Given the description of an element on the screen output the (x, y) to click on. 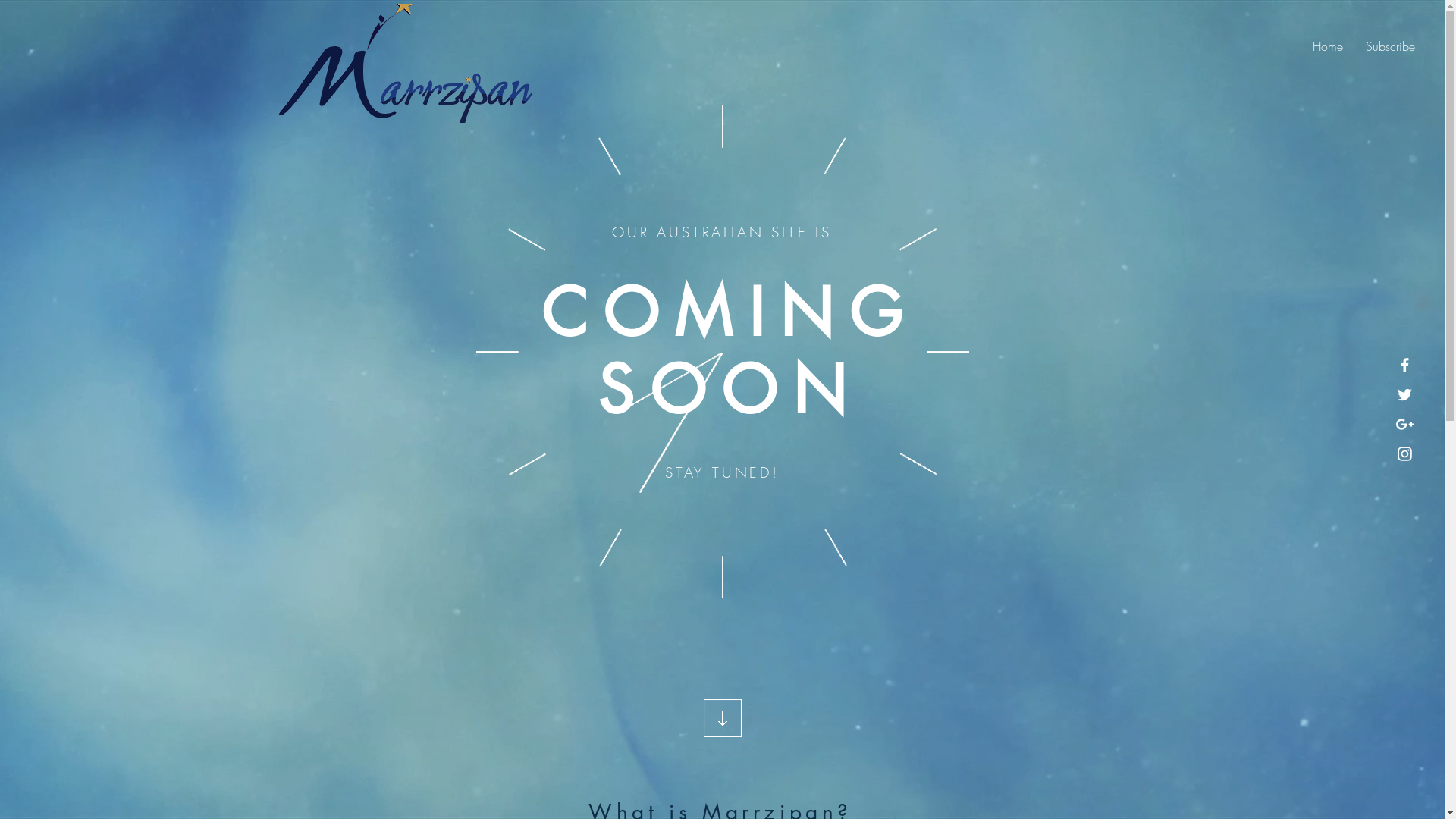
Subscribe Element type: text (1390, 46)
Home Element type: text (1327, 46)
